Given the description of an element on the screen output the (x, y) to click on. 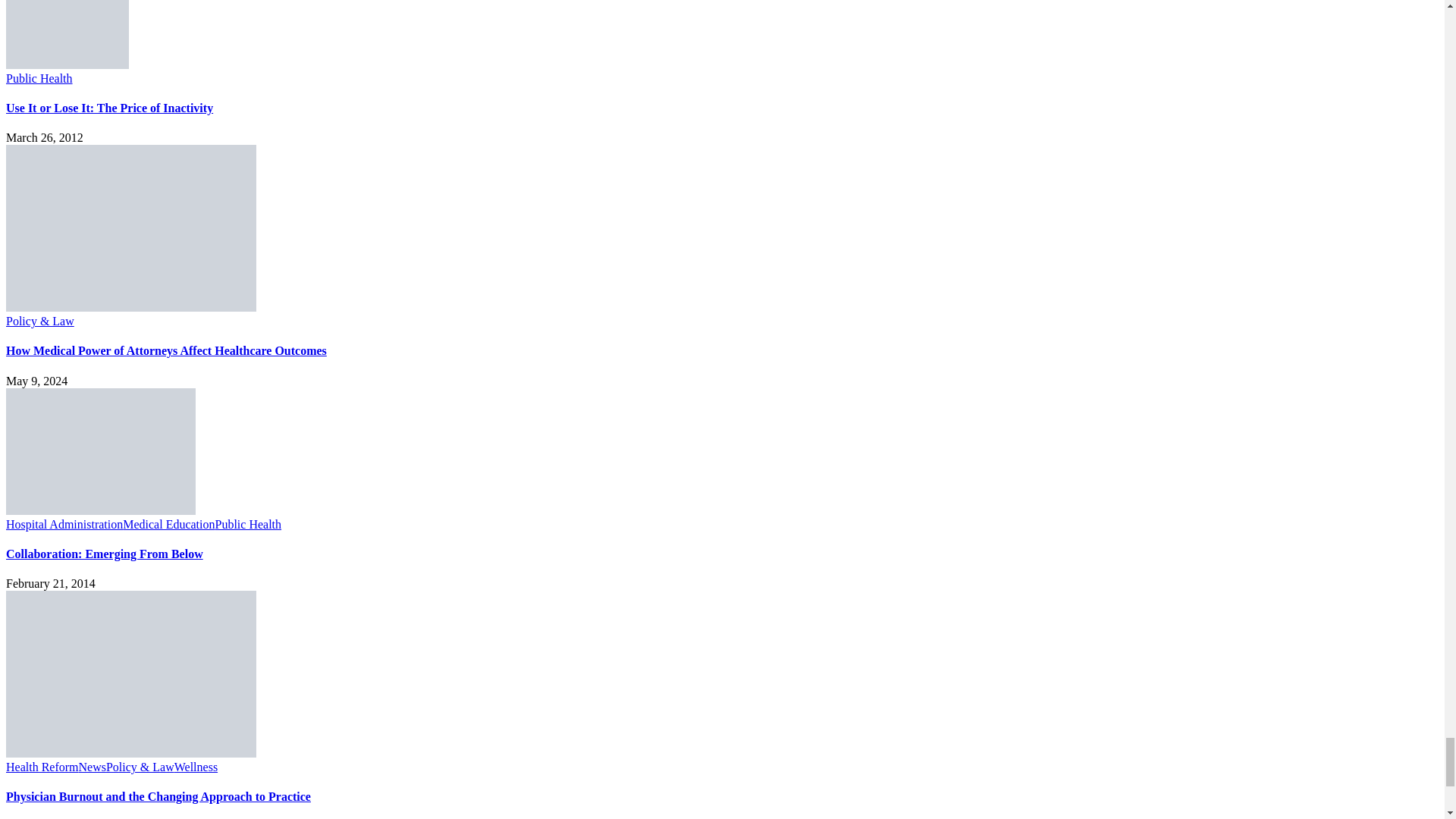
Use It or Lose It: The Price of Inactivity (67, 64)
